Given the description of an element on the screen output the (x, y) to click on. 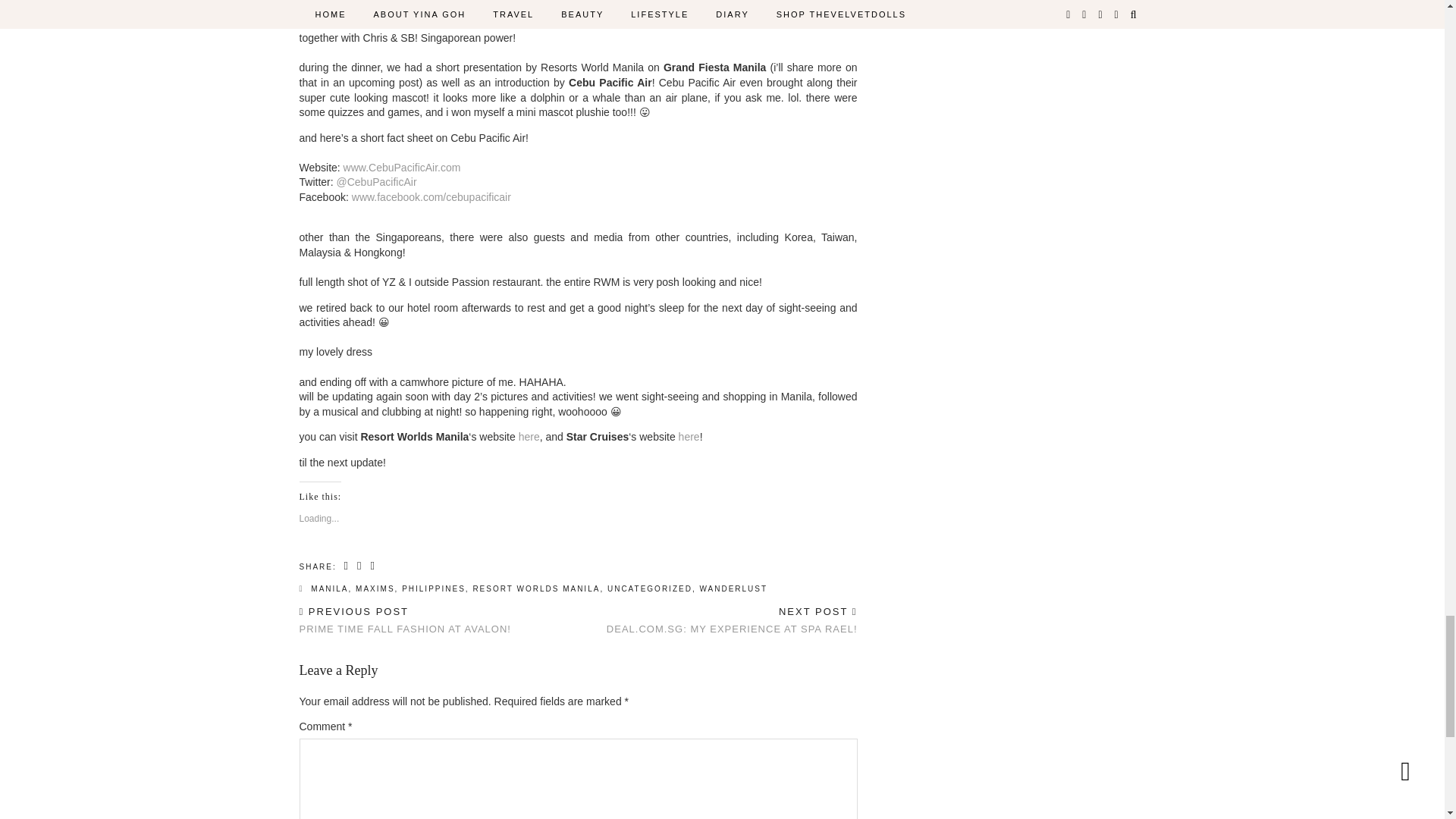
Share on Facebook (346, 566)
here (689, 436)
Share on Twitter (359, 566)
Share on Pinterest (372, 566)
www.CebuPacificAir.com (402, 167)
here (529, 436)
